Given the description of an element on the screen output the (x, y) to click on. 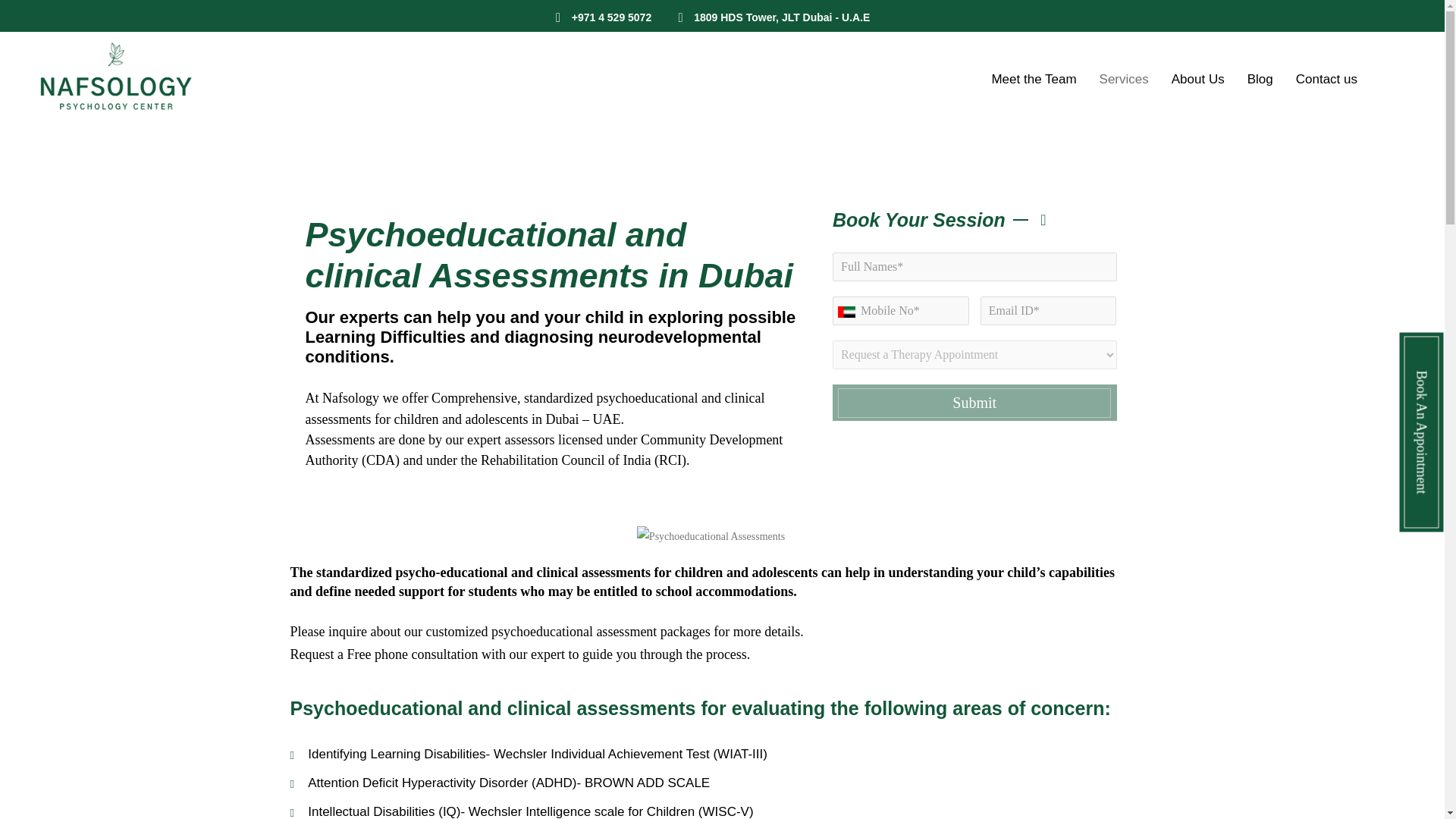
Submit (974, 402)
About Us (1198, 79)
Services (1123, 79)
1809 HDS Tower, JLT Dubai - U.A.E (781, 17)
Psychoeducational Assessments (710, 536)
Contact us (1326, 79)
Meet the Team (1033, 79)
